Given the description of an element on the screen output the (x, y) to click on. 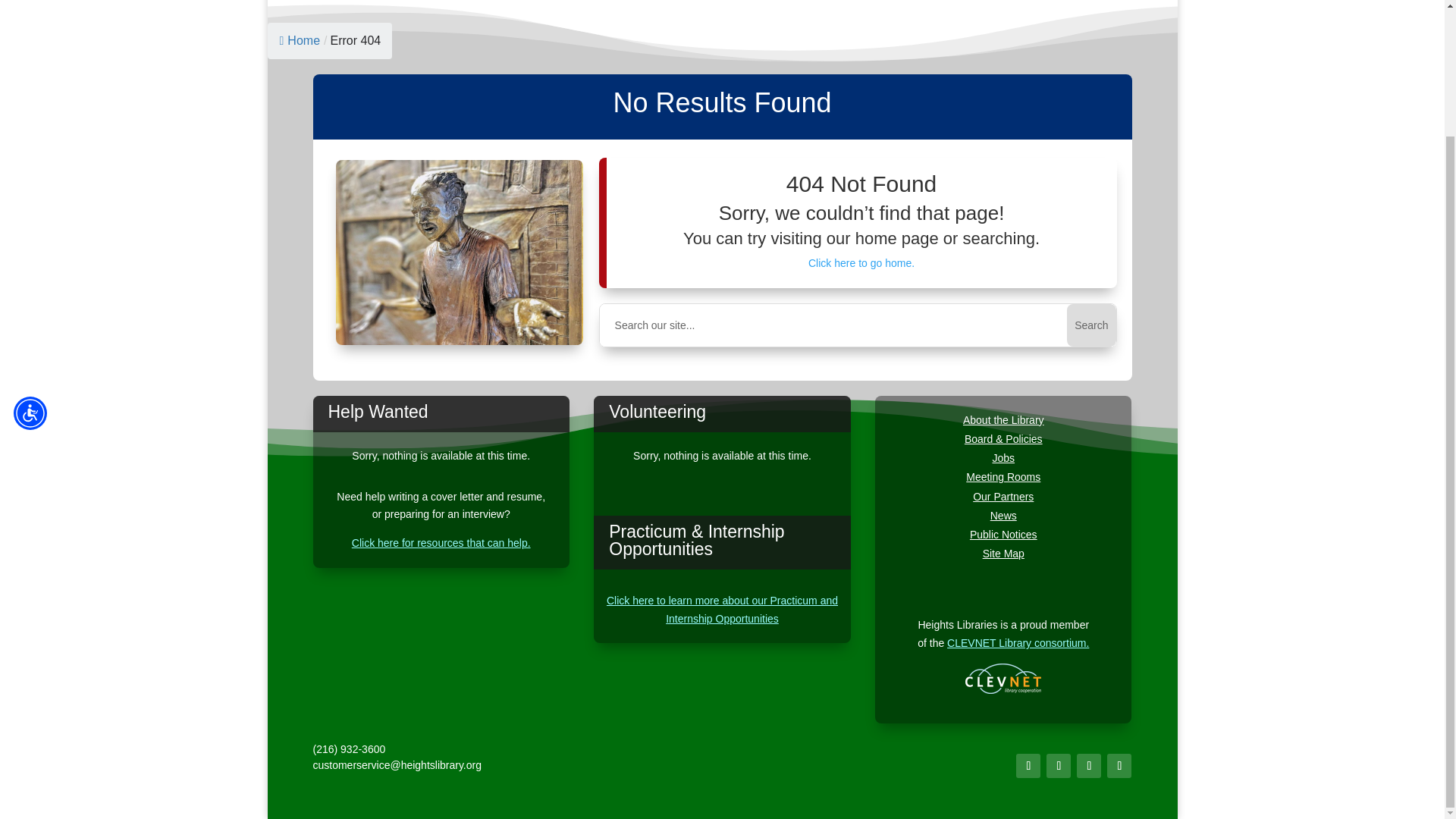
harvey-shrug (459, 251)
Follow on Facebook (1028, 765)
Follow on Instagram (1058, 765)
Follow on RSS (1118, 765)
Accessibility Menu (29, 259)
Search (1091, 324)
Search (1091, 324)
Follow on Youtube (1088, 765)
